Given the description of an element on the screen output the (x, y) to click on. 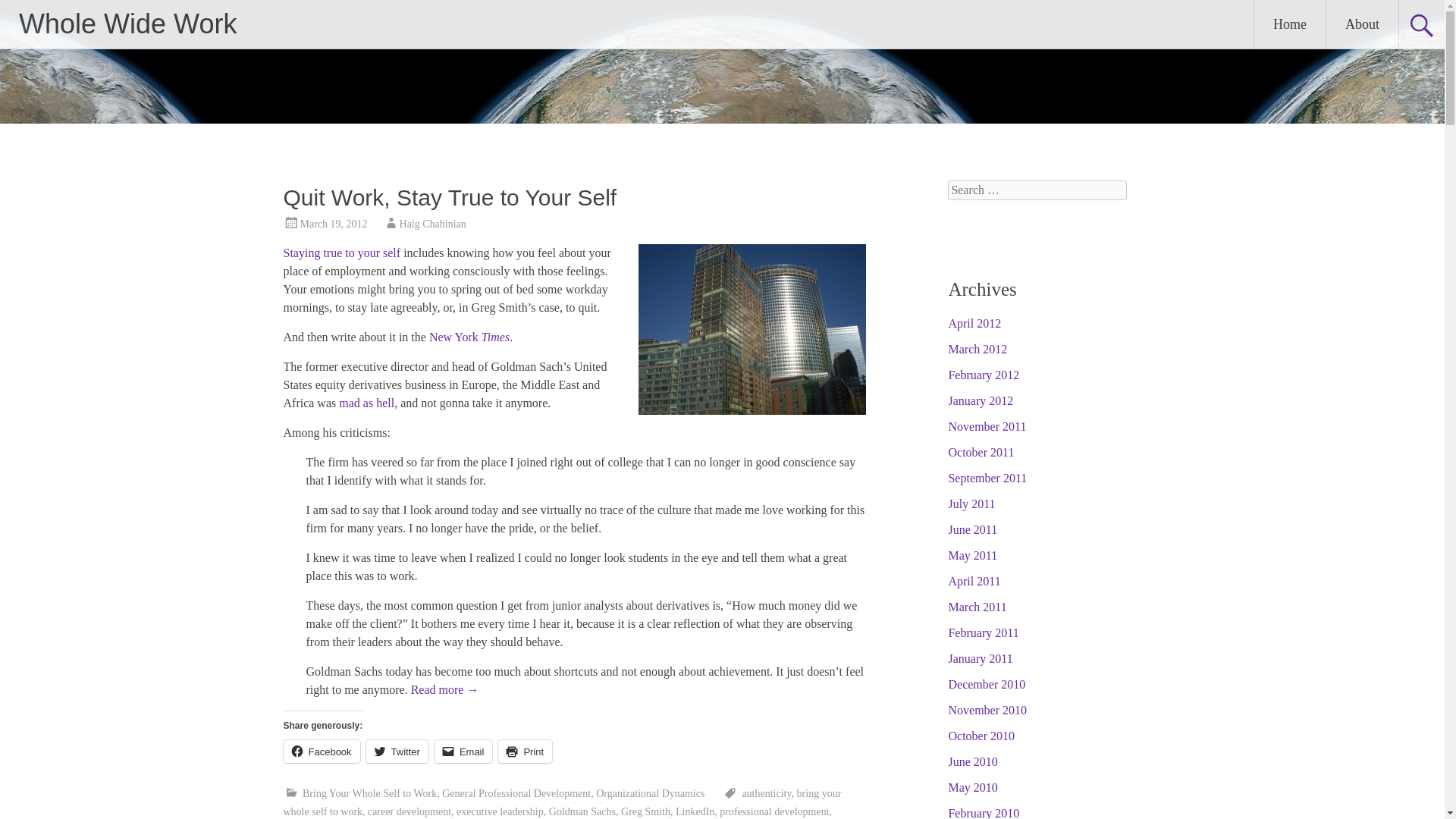
Facebook (321, 751)
Greg Smith (645, 811)
Print (524, 751)
Click to share on Facebook (321, 751)
Staying true to your self (342, 252)
Goldman Sachs (581, 811)
Whole Wide Work (126, 23)
Email (463, 751)
Whole Wide Work (126, 23)
Click to print (524, 751)
